Given the description of an element on the screen output the (x, y) to click on. 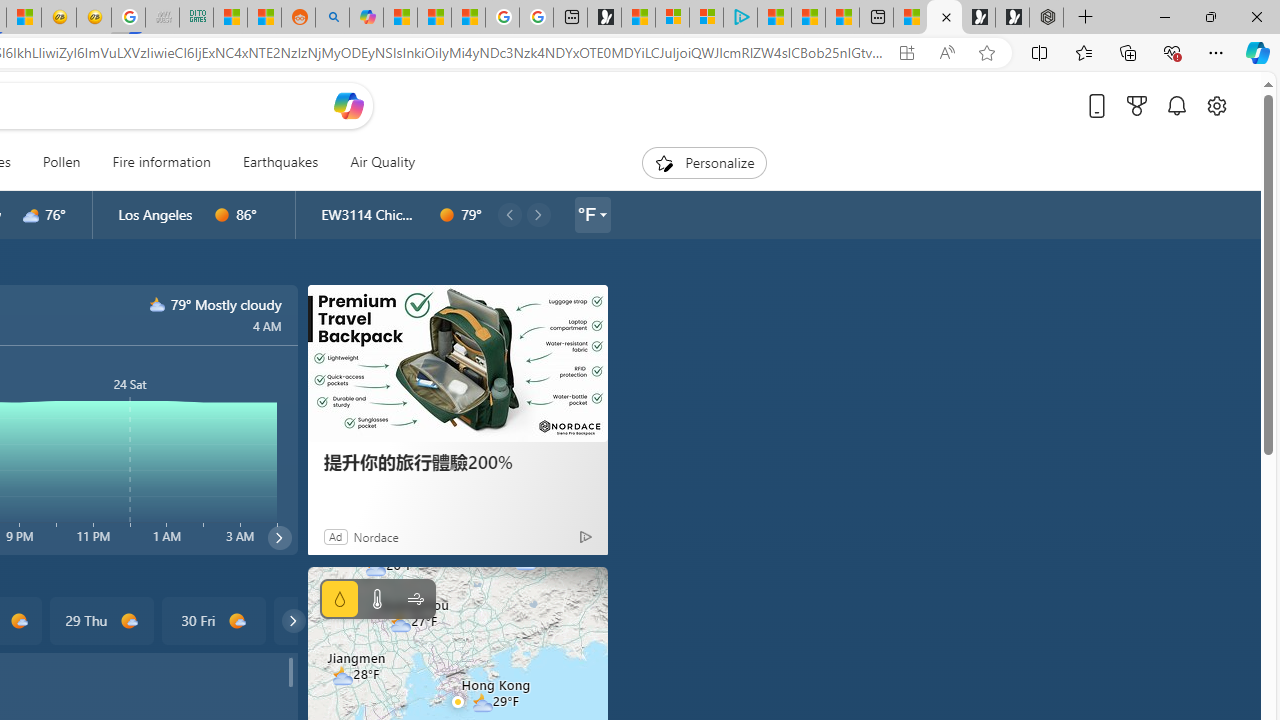
Utah sues federal government - Search (332, 17)
d3000 (31, 215)
